Given the description of an element on the screen output the (x, y) to click on. 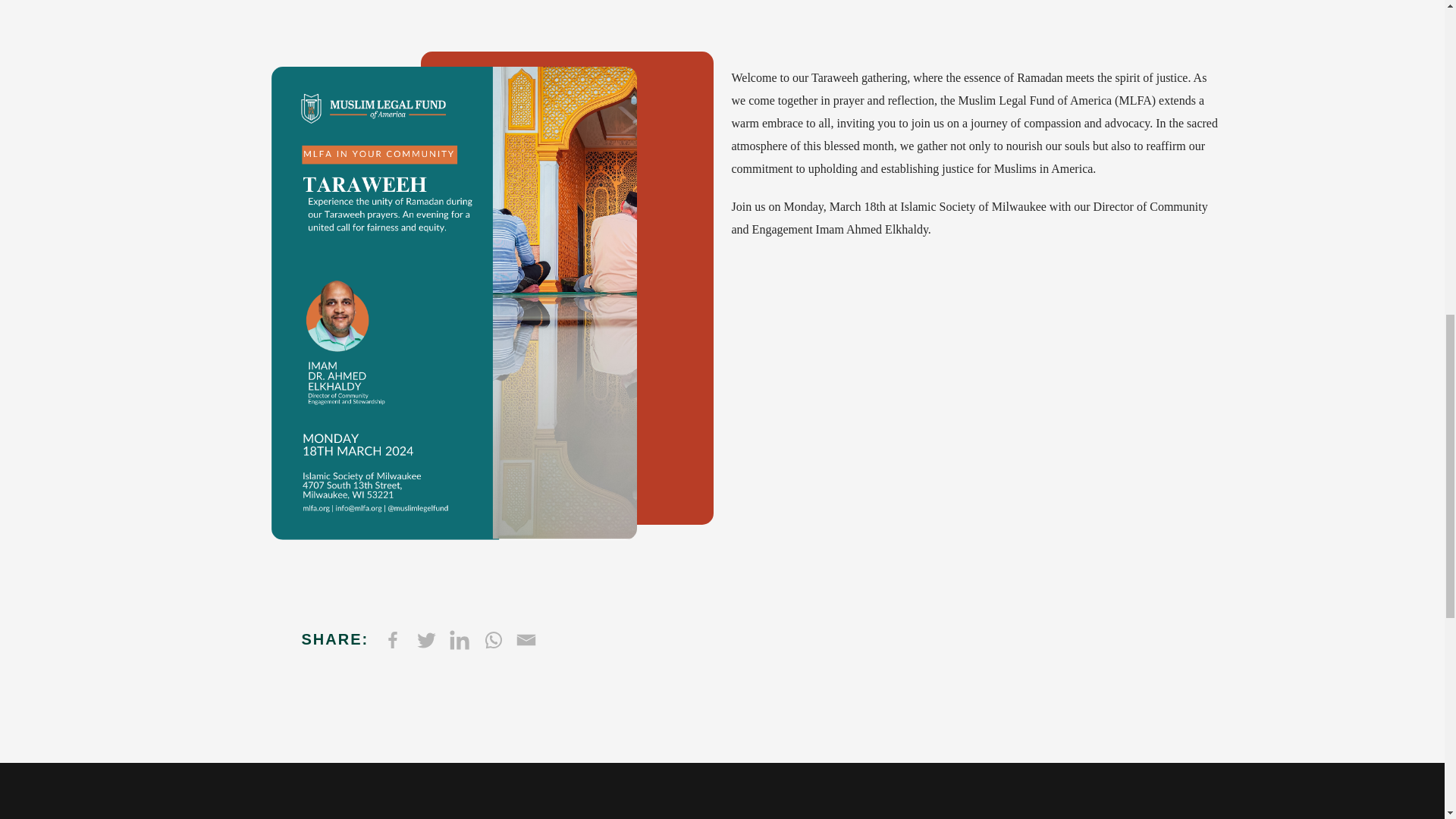
Email (526, 639)
Twitter (425, 639)
Whatsapp (492, 639)
Facebook (392, 639)
Linkedin (459, 639)
